Given the description of an element on the screen output the (x, y) to click on. 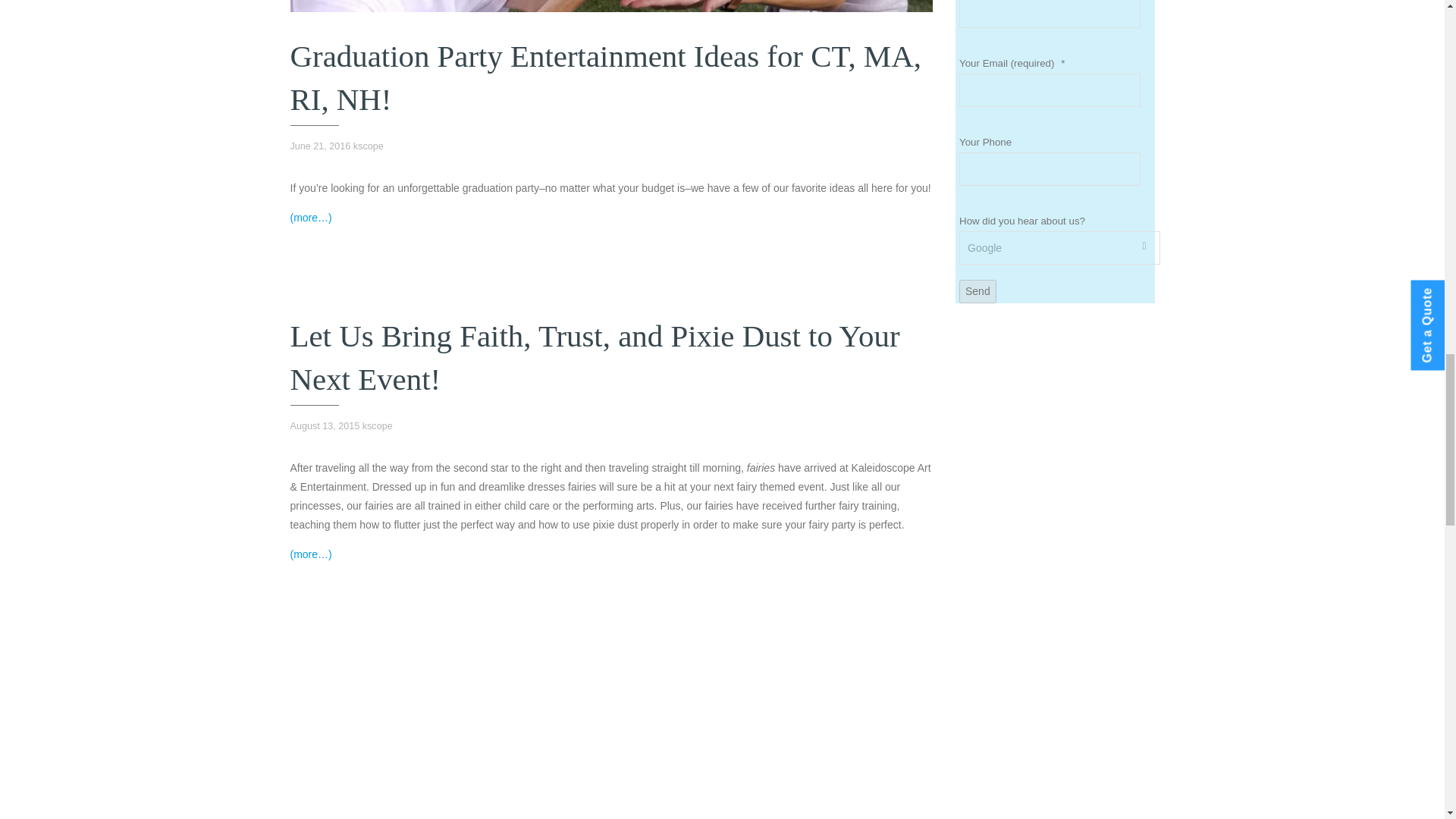
Google (1059, 247)
